Given the description of an element on the screen output the (x, y) to click on. 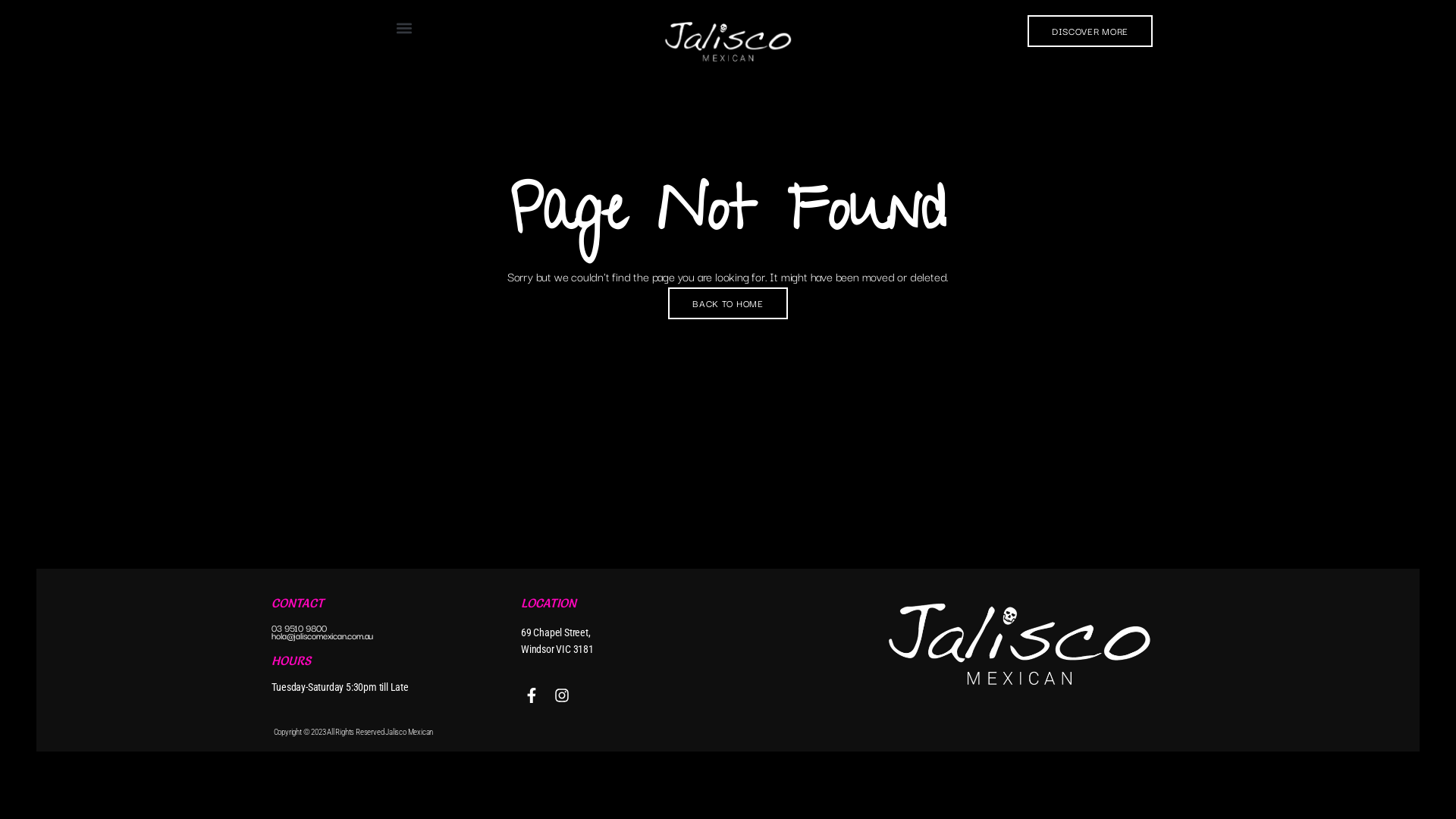
jalisco logo large Element type: hover (727, 41)
DISCOVER MORE Element type: text (1089, 31)
03 9510 9800 Element type: text (298, 627)
BACK TO HOME Element type: text (727, 303)
hola@jaliscomexican.com.au Element type: text (322, 634)
